Given the description of an element on the screen output the (x, y) to click on. 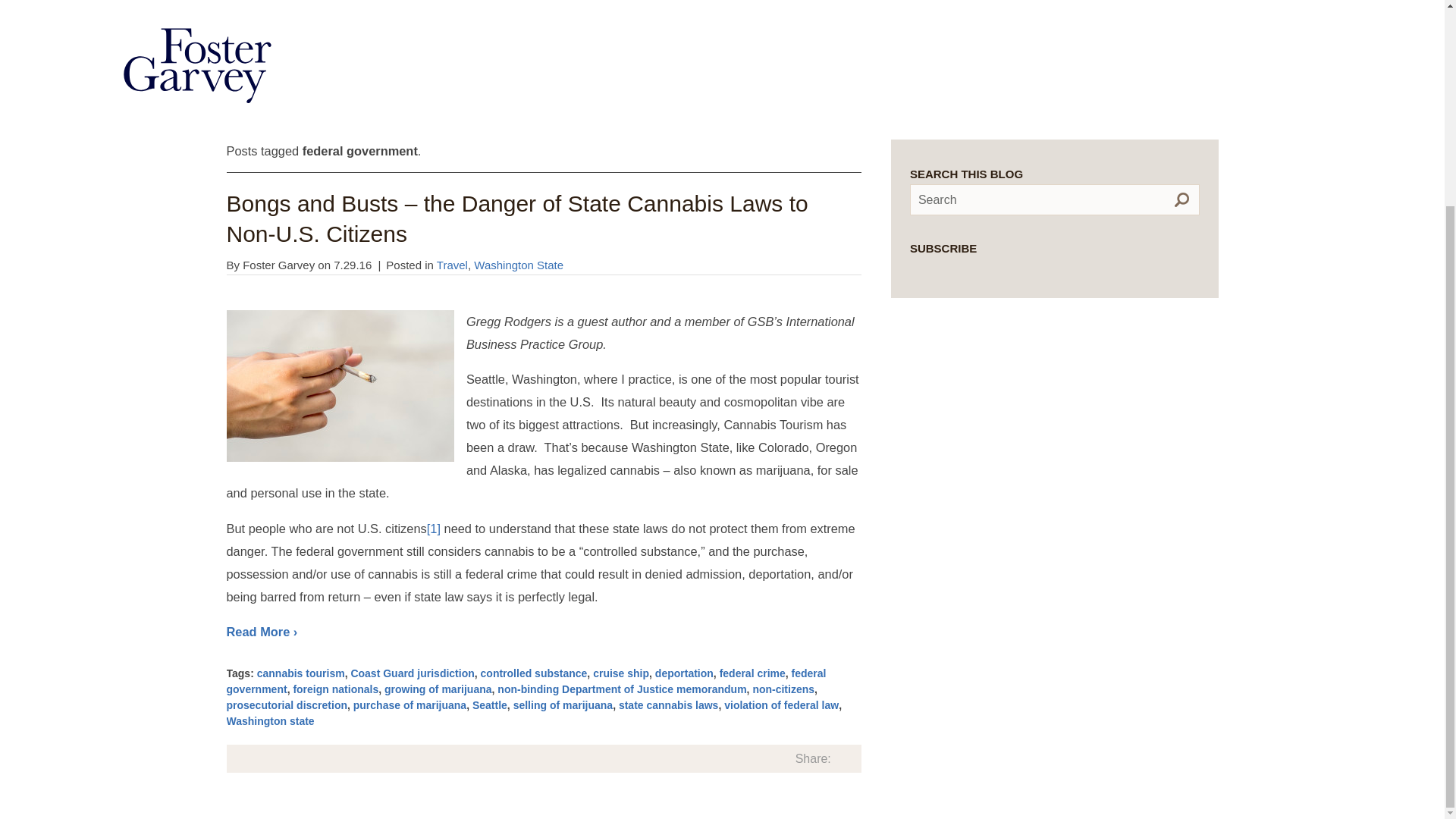
non-citizens (782, 689)
Seattle (488, 705)
violation of federal law (780, 705)
Travel (451, 264)
state cannabis laws (668, 705)
purchase of marijuana (409, 705)
Washington state (269, 720)
foreign nationals (335, 689)
growing of marijuana (438, 689)
Coast Guard jurisdiction (412, 673)
non-binding Department of Justice memorandum (621, 689)
cruise ship (620, 673)
cannabis tourism (301, 673)
controlled substance (534, 673)
federal government (525, 681)
